Given the description of an element on the screen output the (x, y) to click on. 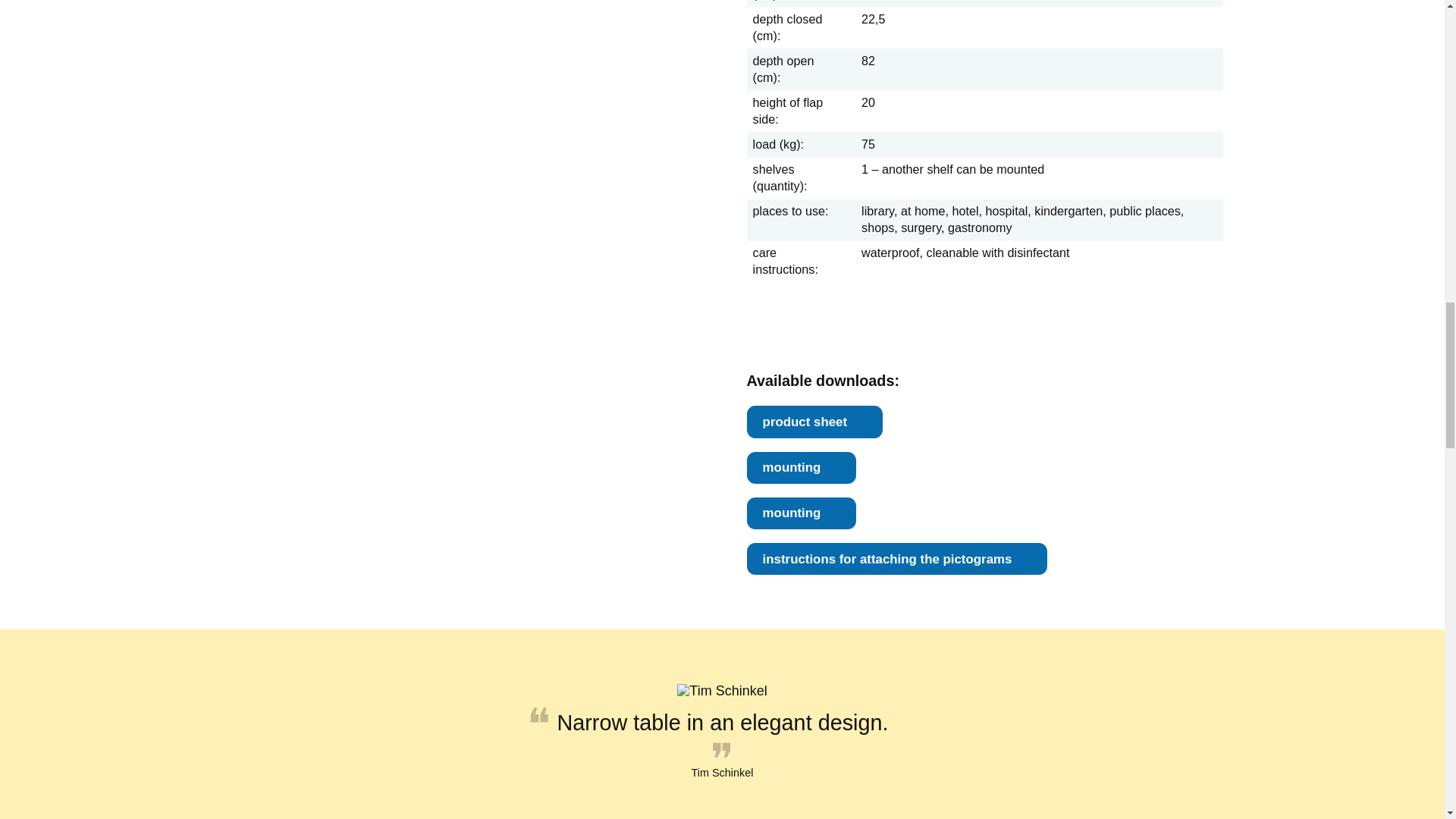
mounting (800, 513)
product sheet (813, 421)
instructions for attaching the pictograms (895, 558)
mounting (800, 468)
